Given the description of an element on the screen output the (x, y) to click on. 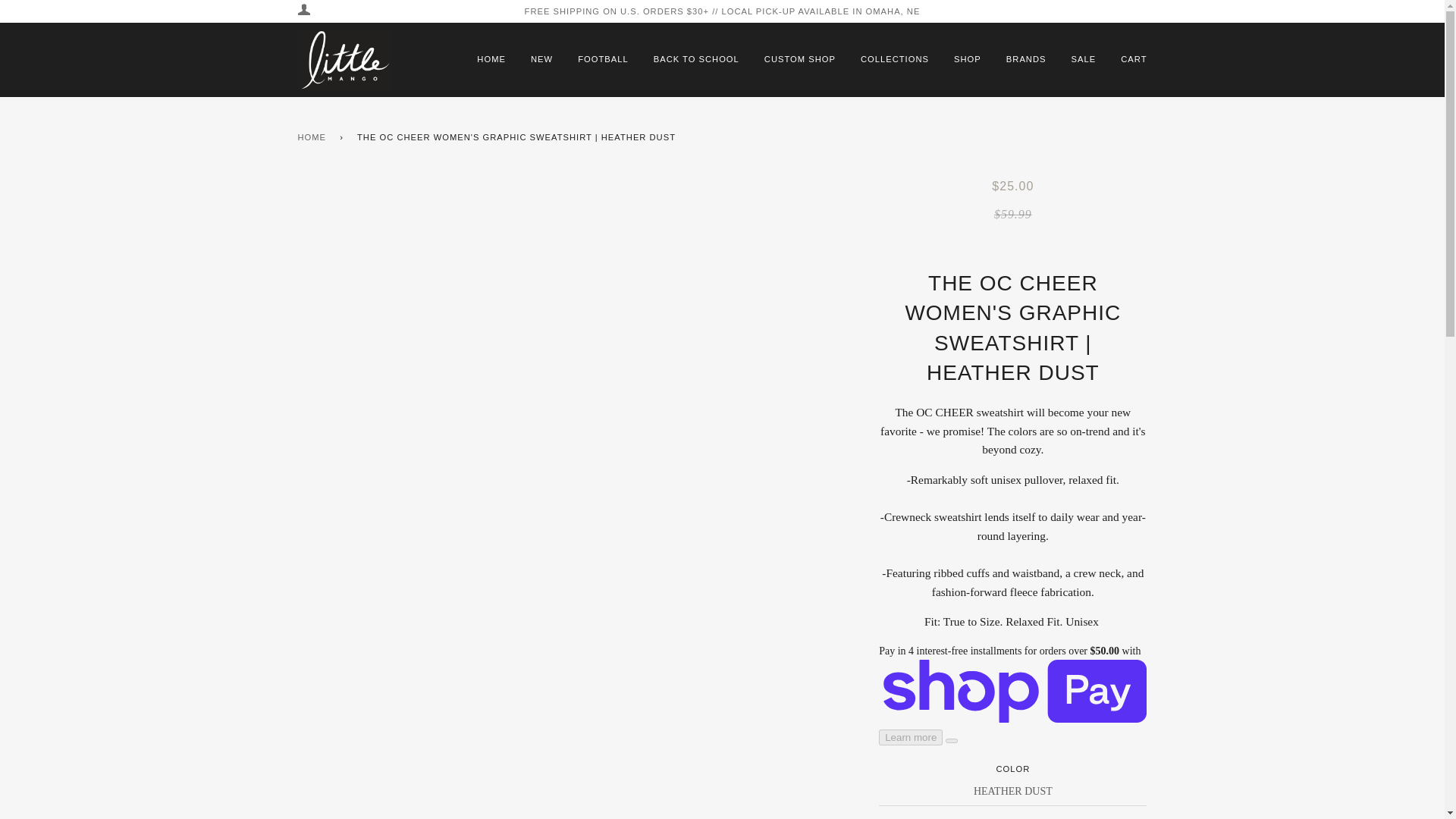
BACK TO SCHOOL (696, 59)
COLLECTIONS (894, 59)
Back to the frontpage (314, 137)
CUSTOM SHOP (799, 59)
